Given the description of an element on the screen output the (x, y) to click on. 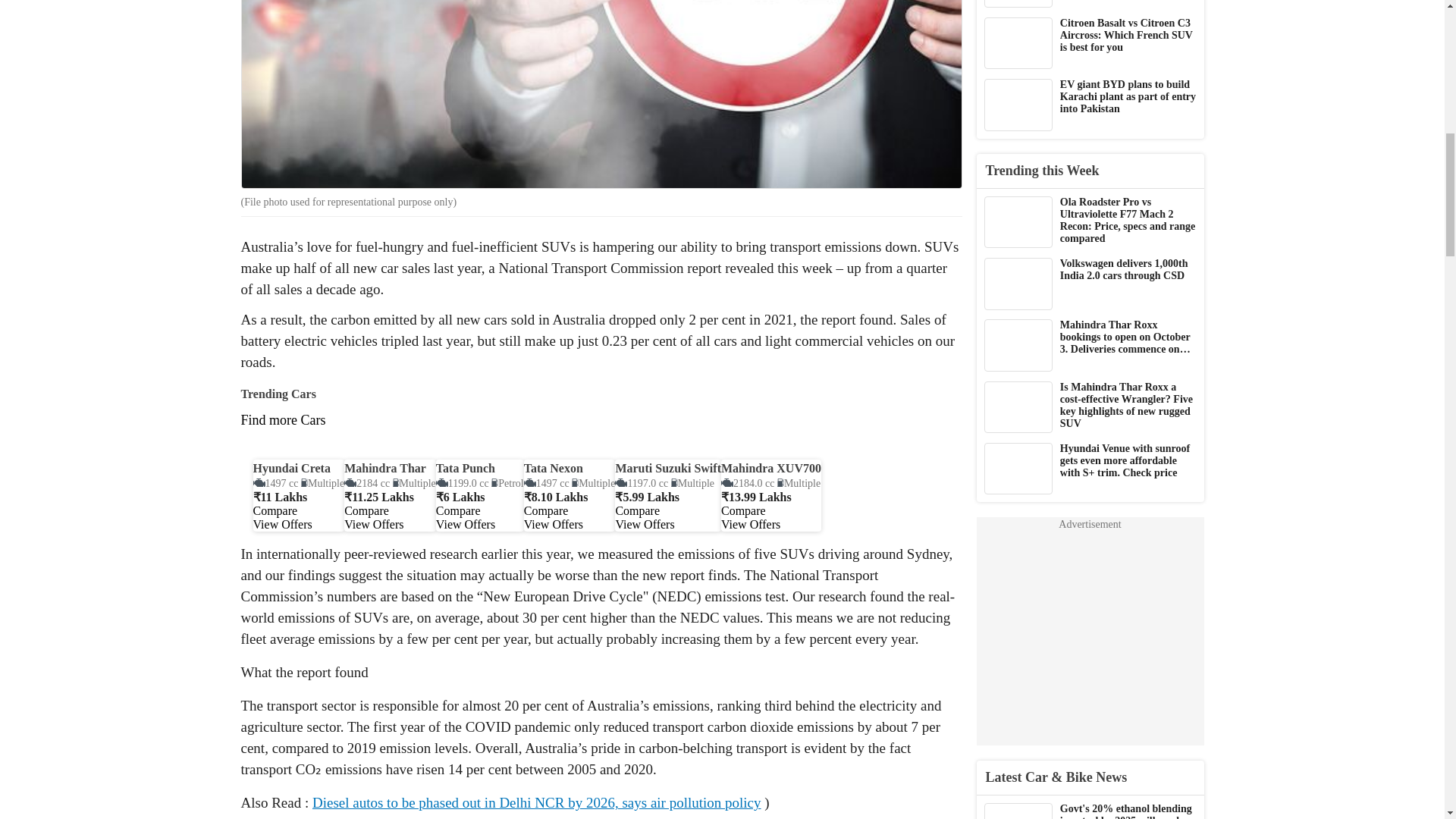
FuelType (322, 482)
FuelType (414, 482)
Engine (641, 482)
FuelType (593, 482)
Engine (546, 482)
Engine (366, 482)
Engine (275, 482)
FuelType (692, 482)
FuelType (507, 482)
Engine (462, 482)
